Given the description of an element on the screen output the (x, y) to click on. 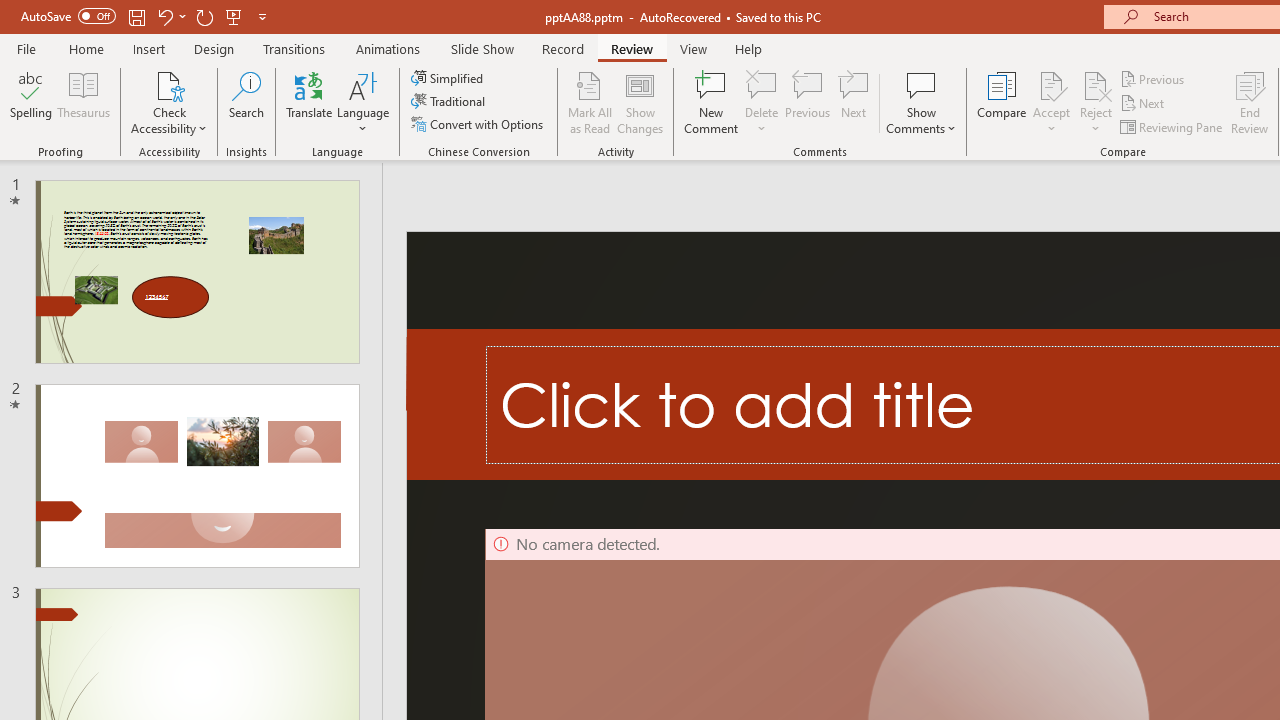
Convert with Options... (479, 124)
Thesaurus... (83, 102)
Reject (1096, 102)
Traditional (449, 101)
